Given the description of an element on the screen output the (x, y) to click on. 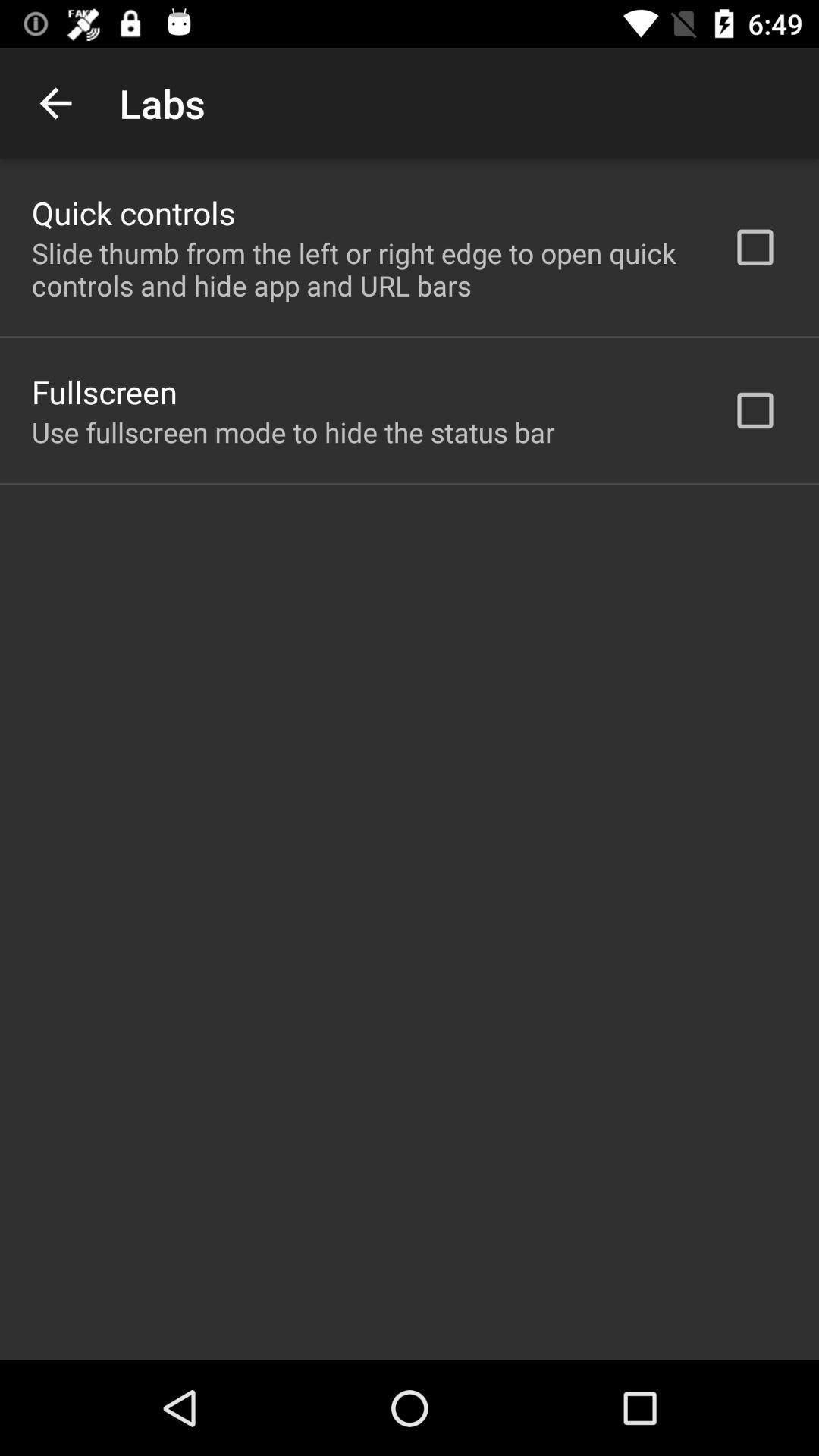
turn on the slide thumb from icon (361, 269)
